Given the description of an element on the screen output the (x, y) to click on. 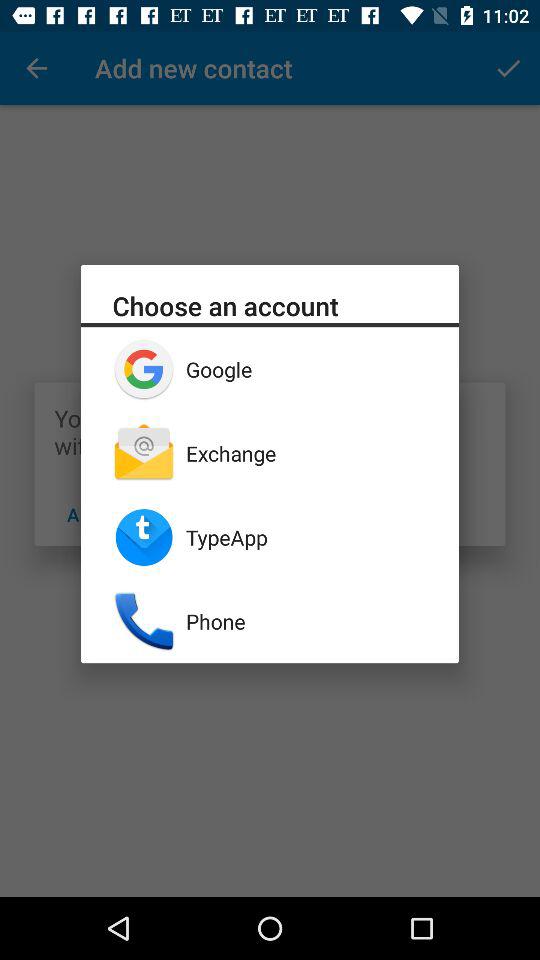
press typeapp item (306, 537)
